Given the description of an element on the screen output the (x, y) to click on. 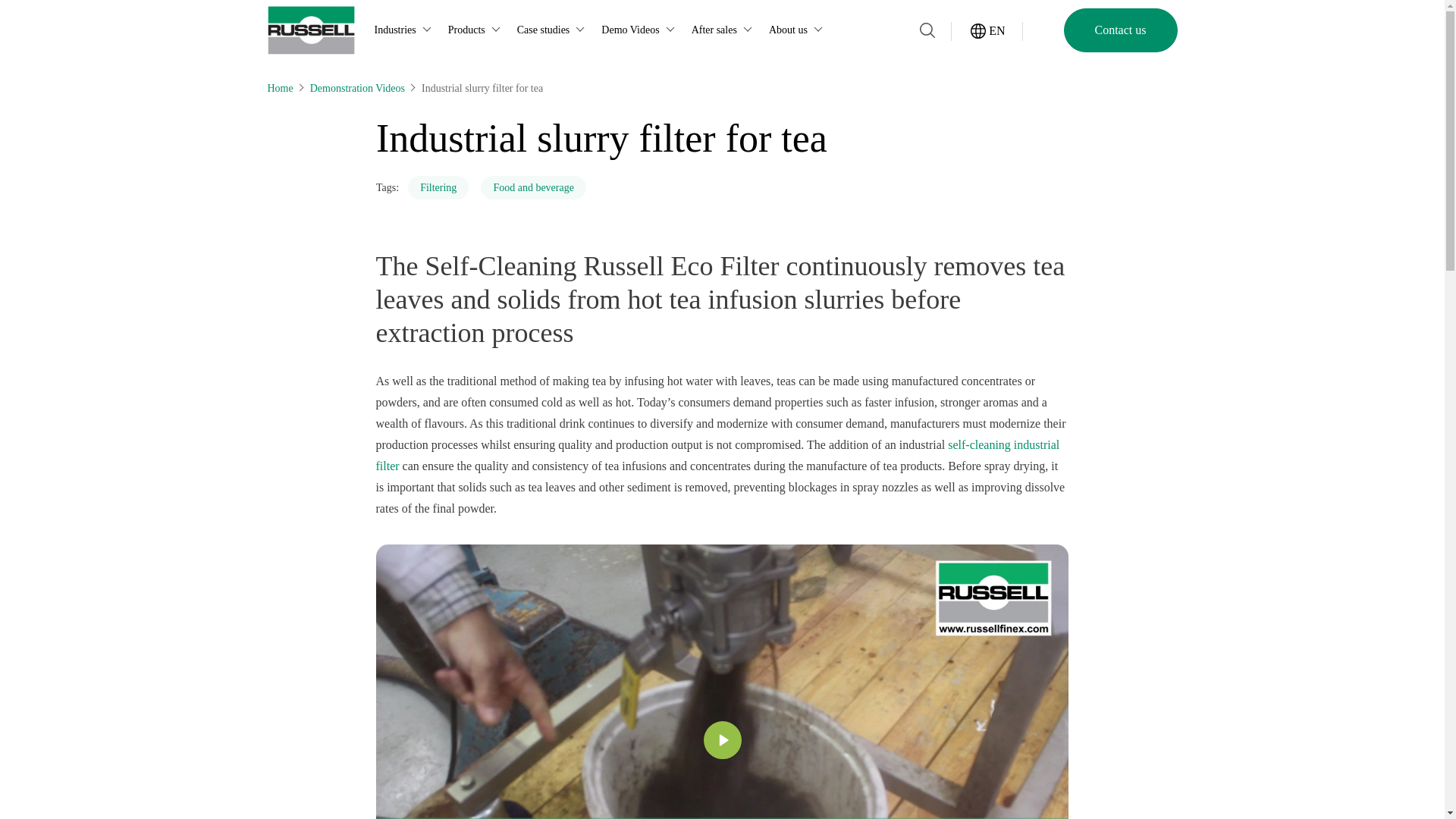
Industries (404, 30)
Russell Finex (309, 29)
Products (476, 30)
